Given the description of an element on the screen output the (x, y) to click on. 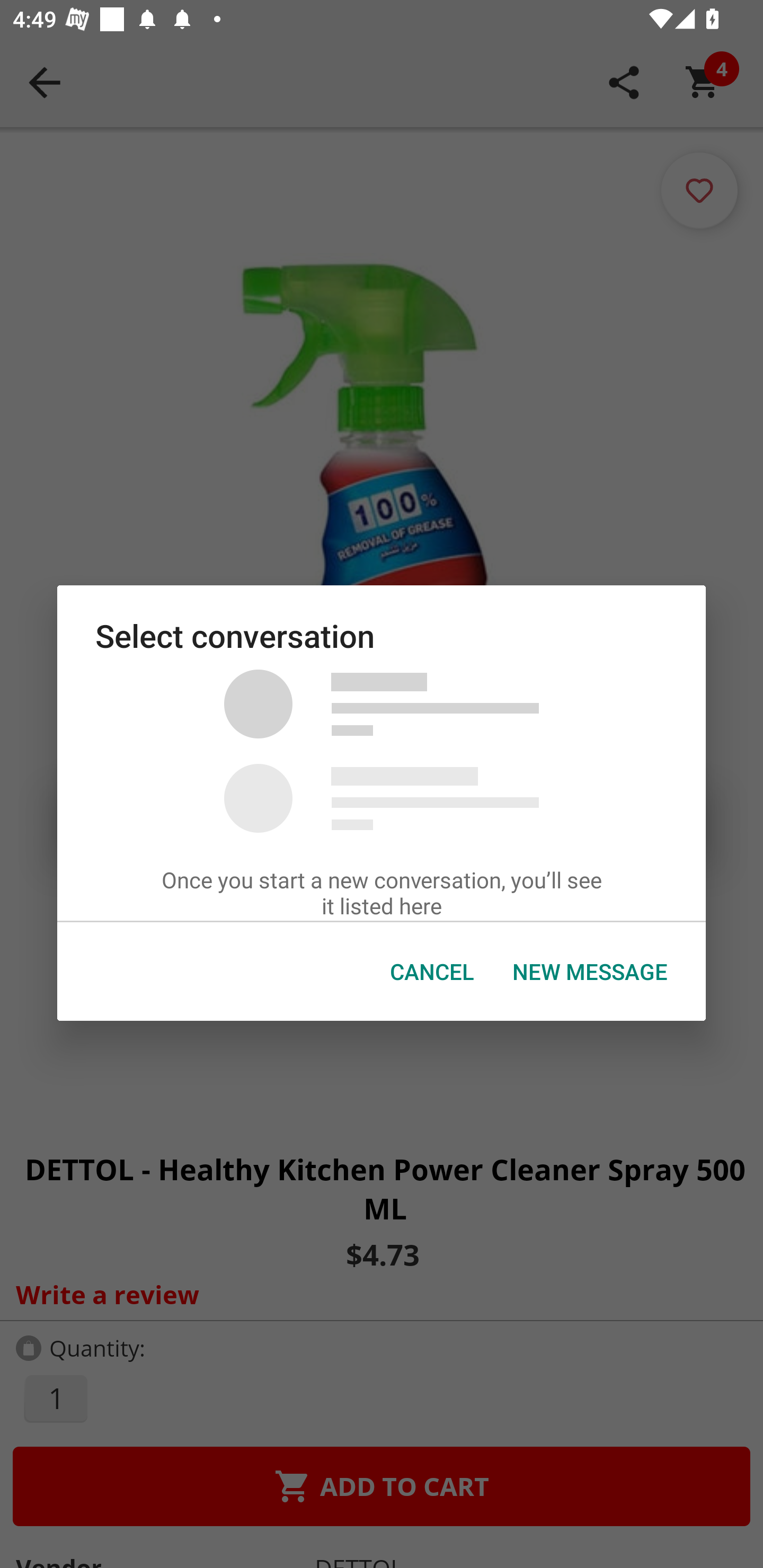
CANCEL (431, 971)
NEW MESSAGE (589, 971)
